Given the description of an element on the screen output the (x, y) to click on. 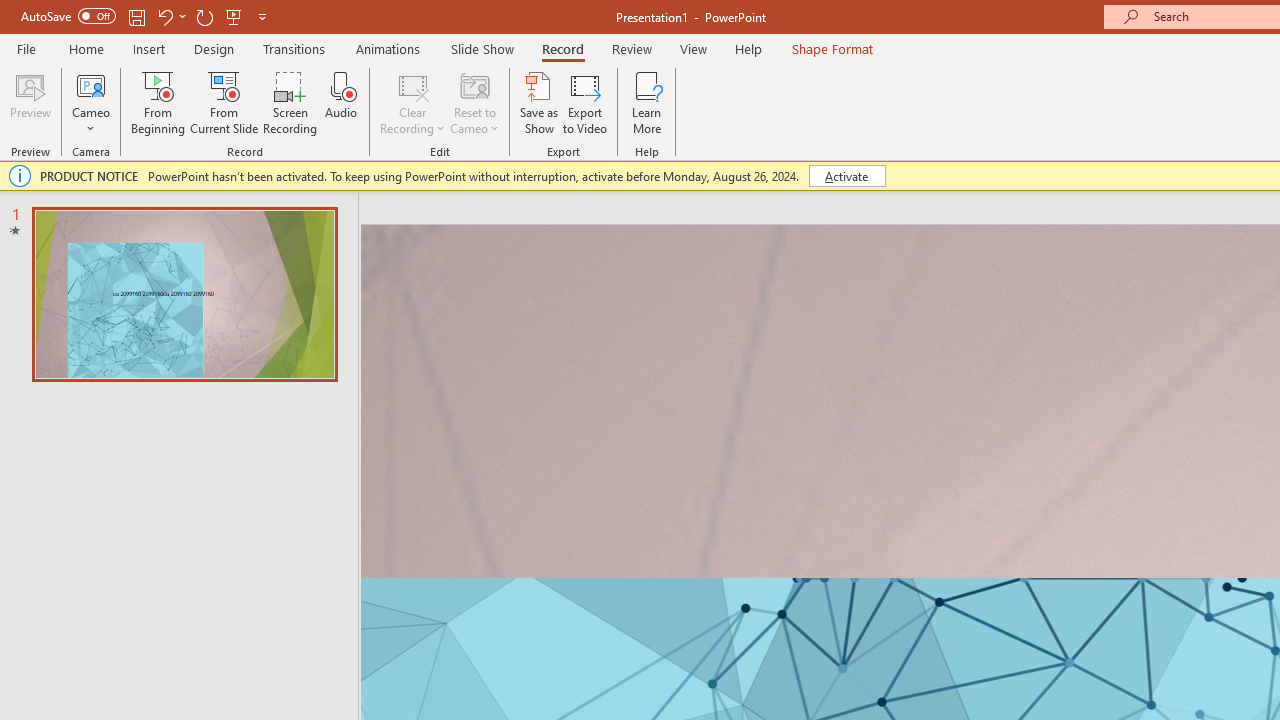
Clear Recording (412, 102)
Learn More (646, 102)
Activate (846, 175)
Reset to Cameo (474, 102)
